Given the description of an element on the screen output the (x, y) to click on. 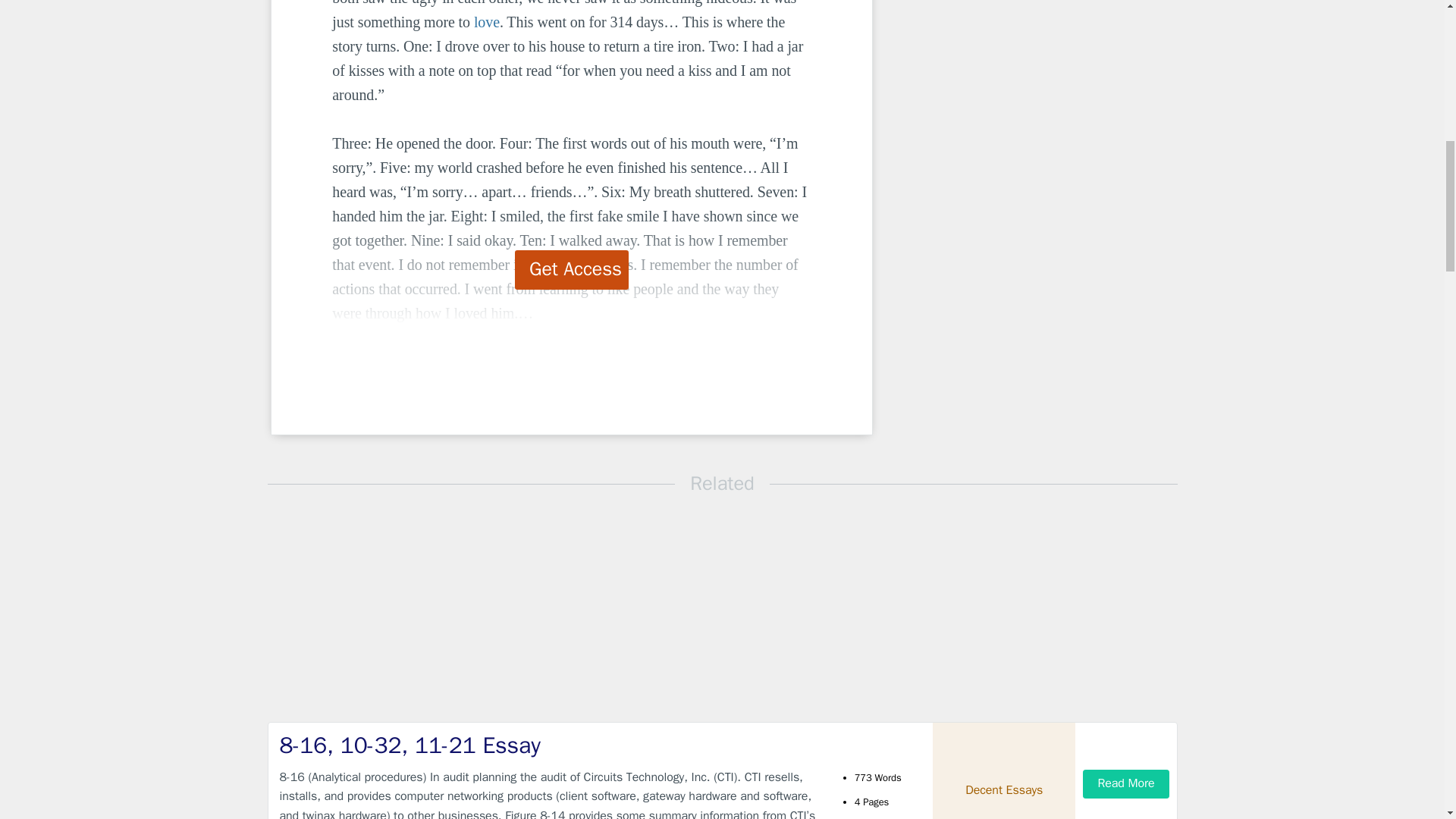
8-16, 10-32, 11-21 Essay (548, 745)
Get Access (571, 269)
Read More (1126, 783)
love (486, 21)
